Given the description of an element on the screen output the (x, y) to click on. 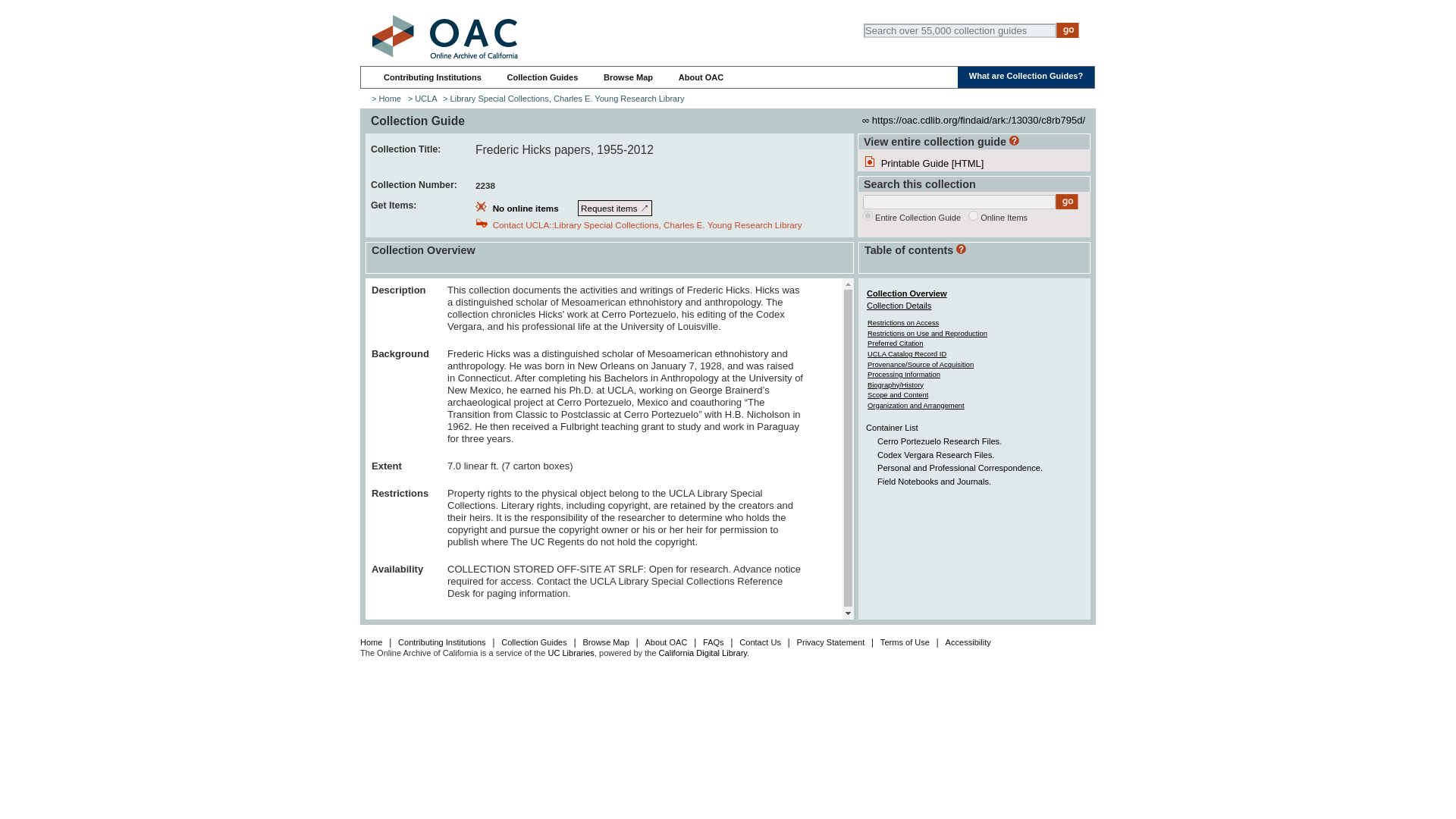
search (973, 215)
Processing Information (903, 374)
Restrictions on Use and Reproduction (927, 333)
Codex Vergara Research Files. (935, 454)
Online Archive of California (444, 36)
What are Collection Guides? (1026, 75)
Search (1067, 29)
Go (1066, 201)
Search (1067, 29)
view (867, 215)
Browse Map (628, 76)
link opens in new window (615, 207)
Organization and Arrangement (915, 405)
Contributing Institutions (432, 76)
Preferred Citation (895, 343)
